Given the description of an element on the screen output the (x, y) to click on. 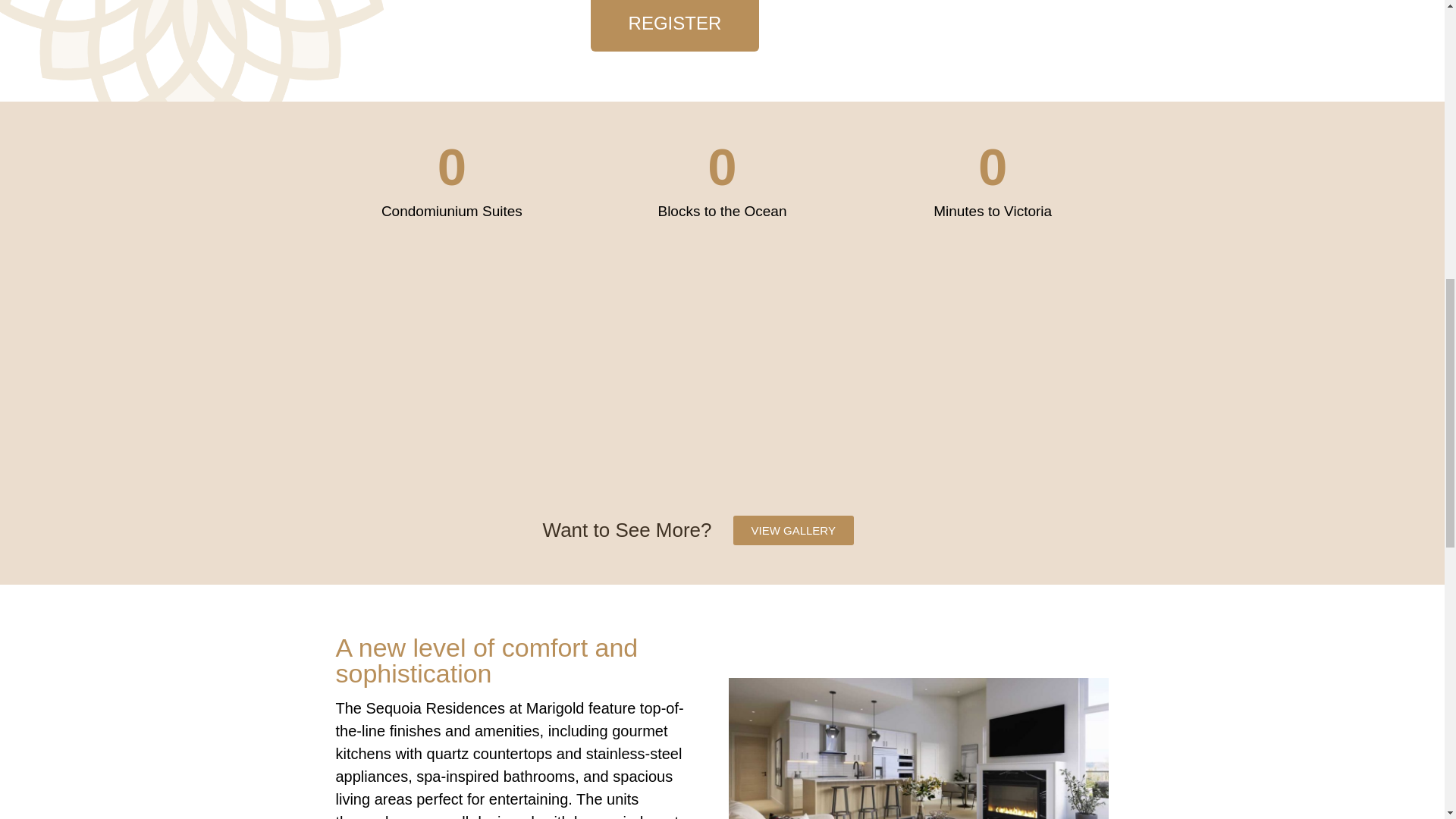
REGISTER (675, 25)
VIEW GALLERY (792, 530)
